Given the description of an element on the screen output the (x, y) to click on. 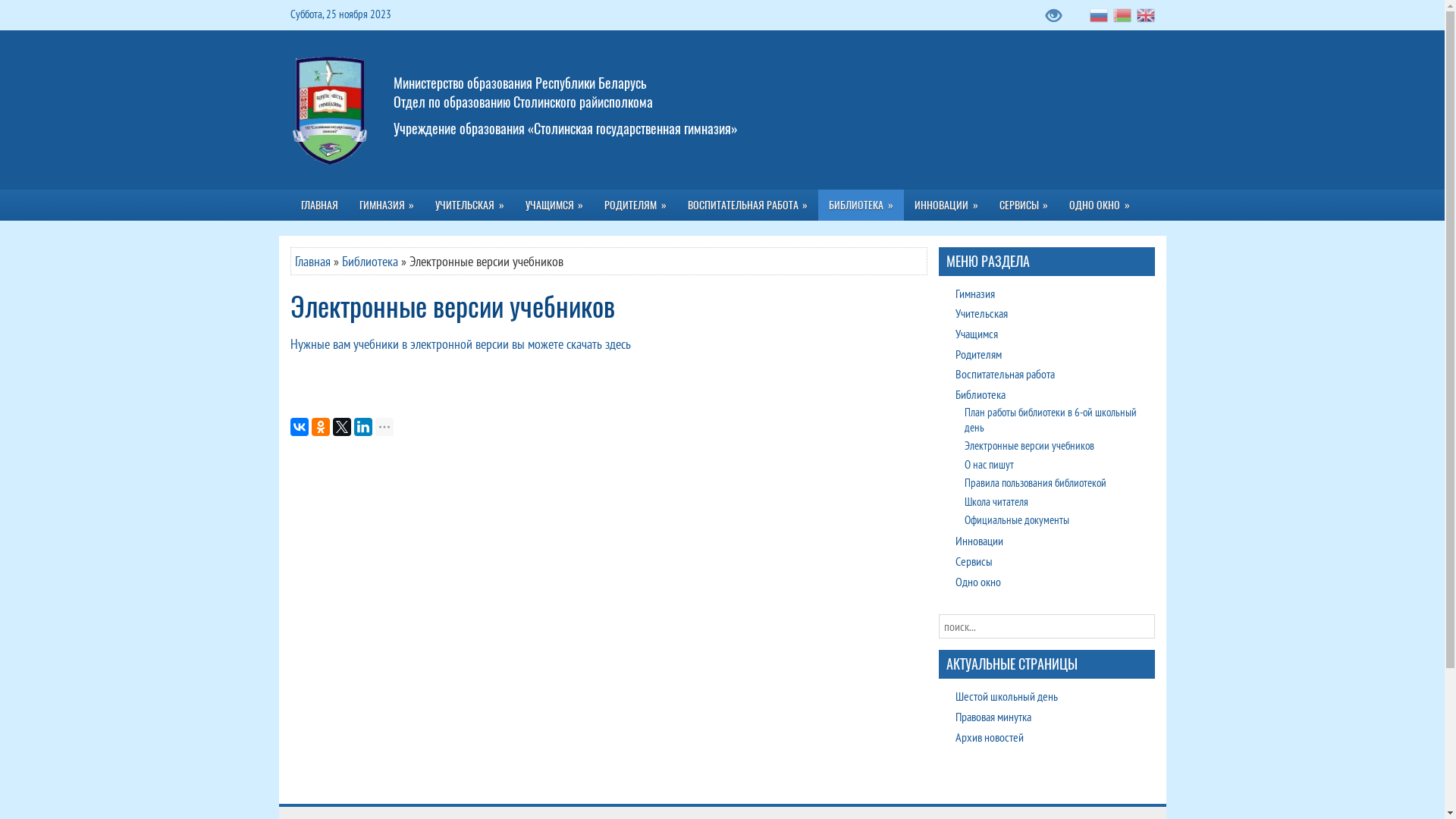
LinkedIn Element type: hover (362, 426)
Twitter Element type: hover (341, 426)
